Given the description of an element on the screen output the (x, y) to click on. 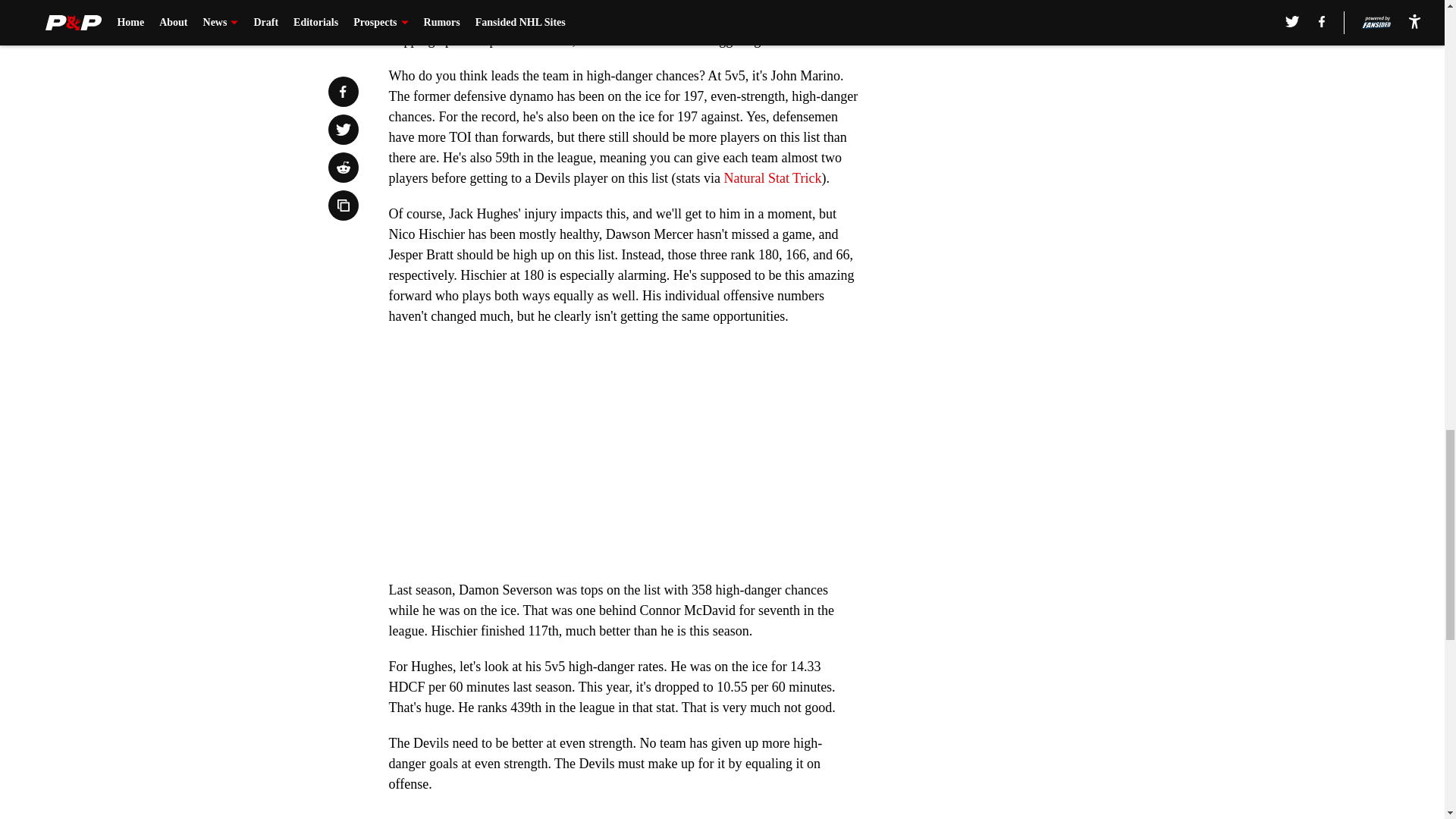
Natural Stat Trick (772, 177)
worst power plays in the league (697, 3)
